Given the description of an element on the screen output the (x, y) to click on. 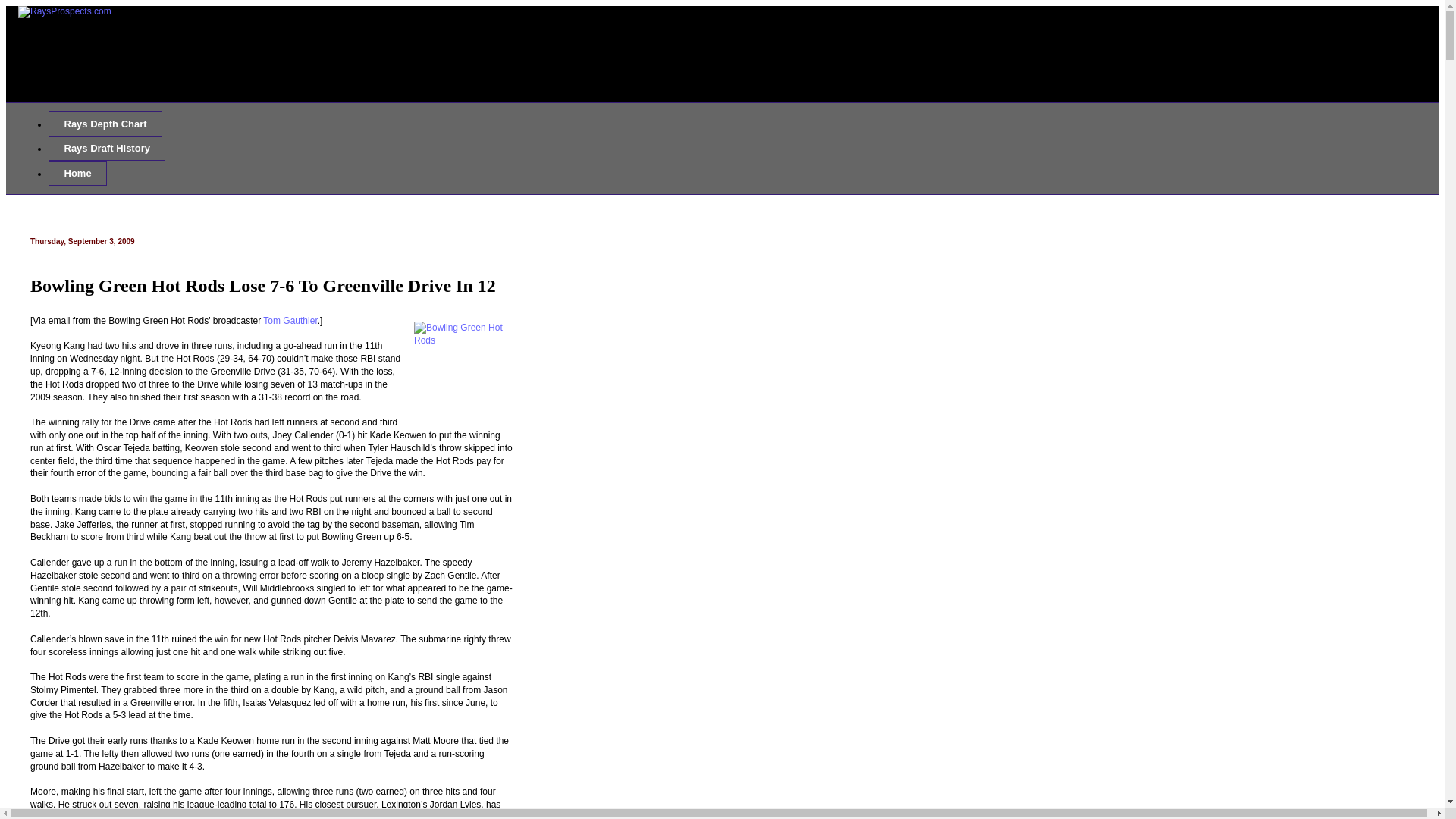
Rays Depth Chart (104, 123)
Tom Gauthier (290, 320)
Home (77, 172)
Rays Draft History (106, 148)
